Given the description of an element on the screen output the (x, y) to click on. 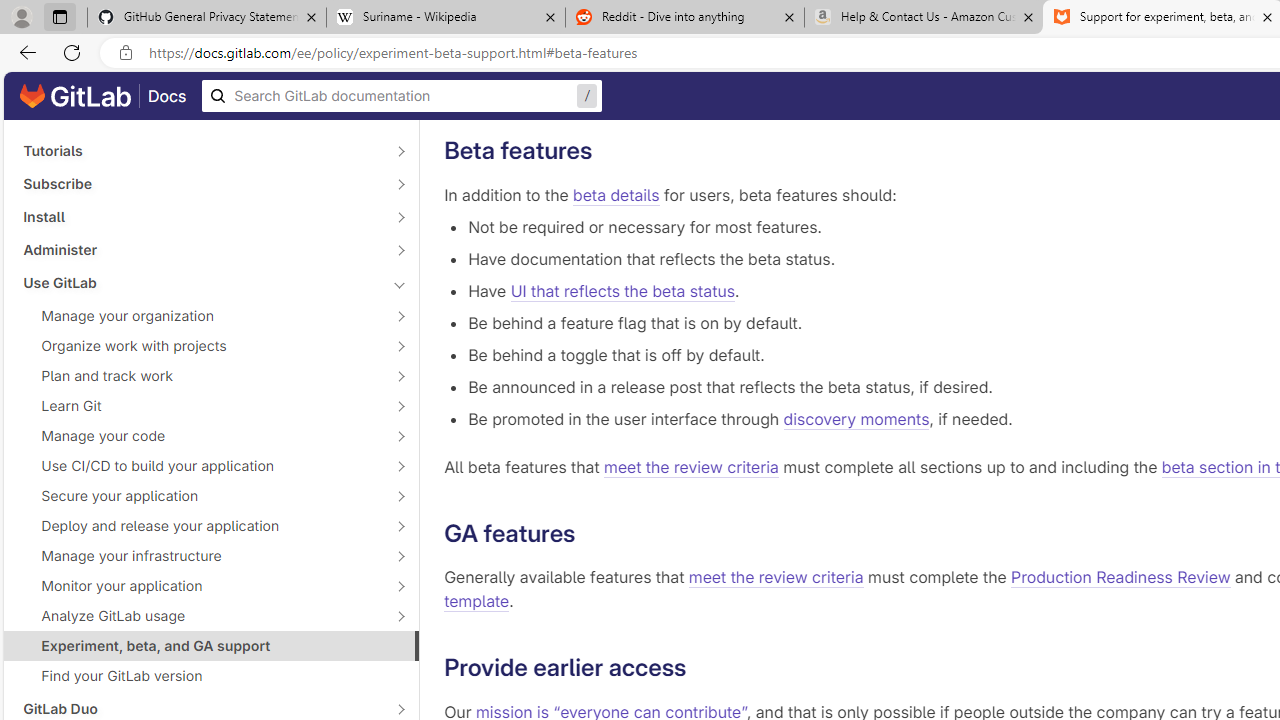
Administer (199, 249)
beta details (616, 194)
Permalink (702, 668)
meet the review criteria (776, 577)
Help & Contact Us - Amazon Customer Service - Sleeping (924, 17)
Analyze GitLab usage (199, 615)
Deploy and release your application (199, 525)
Plan and track work (199, 375)
GitLab documentation home Docs (103, 96)
